Given the description of an element on the screen output the (x, y) to click on. 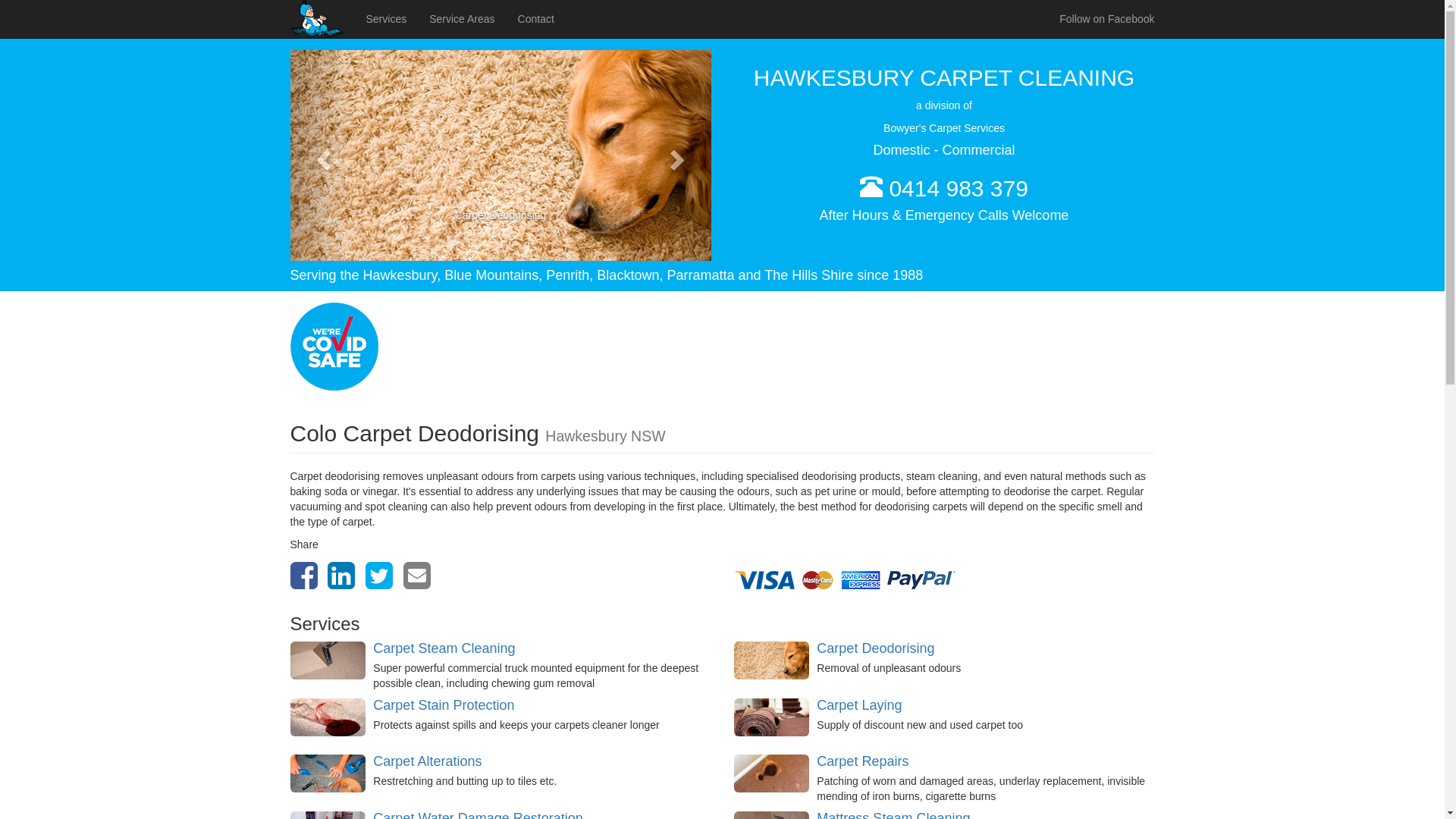
Carpet Alterations Element type: text (427, 760)
Carpet Repairs Element type: text (862, 760)
Carpet Stain Protection Element type: text (443, 704)
Contact Element type: text (535, 18)
Follow on Facebook Element type: text (1106, 18)
Previous Element type: text (320, 155)
Service Areas Element type: text (461, 18)
Carpet Laying Element type: text (858, 704)
Services Element type: text (386, 18)
Carpet Deodorising Element type: text (875, 647)
Carpet Steam Cleaning Element type: text (443, 647)
Next Element type: text (678, 155)
0414 983 379 Element type: text (958, 187)
